Given the description of an element on the screen output the (x, y) to click on. 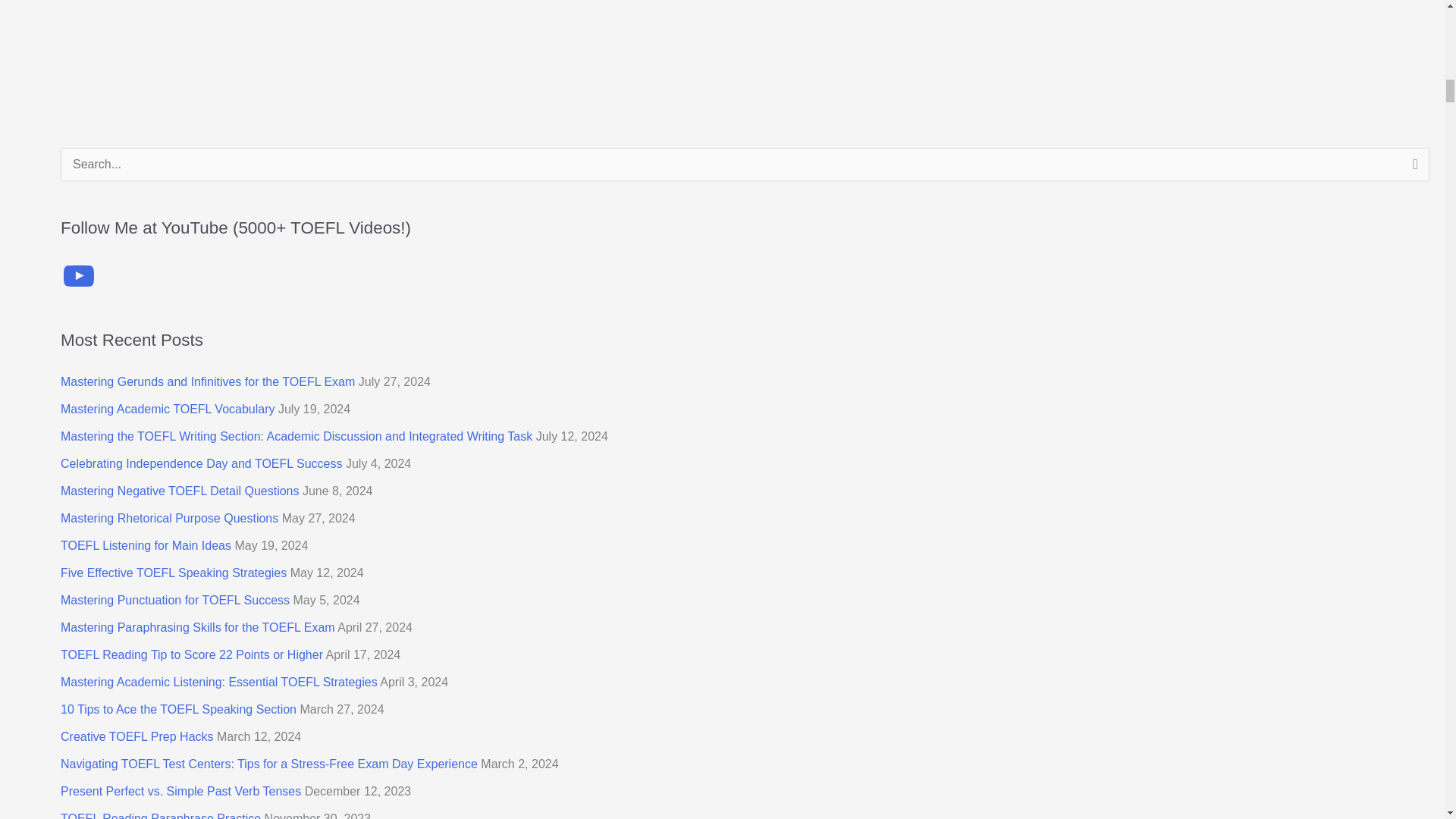
Mastering Gerunds and Infinitives for the TOEFL Exam (208, 381)
Mastering Rhetorical Purpose Questions (169, 517)
Mastering Negative TOEFL Detail Questions (180, 490)
Mastering Paraphrasing Skills for the TOEFL Exam (197, 626)
Mastering Academic TOEFL Vocabulary (168, 408)
YouTube (79, 275)
Mastering Punctuation for TOEFL Success (175, 599)
Five Effective TOEFL Speaking Strategies (173, 572)
Celebrating Independence Day and TOEFL Success (201, 463)
Mastering Academic Listening: Essential TOEFL Strategies (219, 681)
TOEFL Reading Tip to Score 22 Points or Higher (192, 654)
TOEFL Listening for Main Ideas (146, 545)
